Given the description of an element on the screen output the (x, y) to click on. 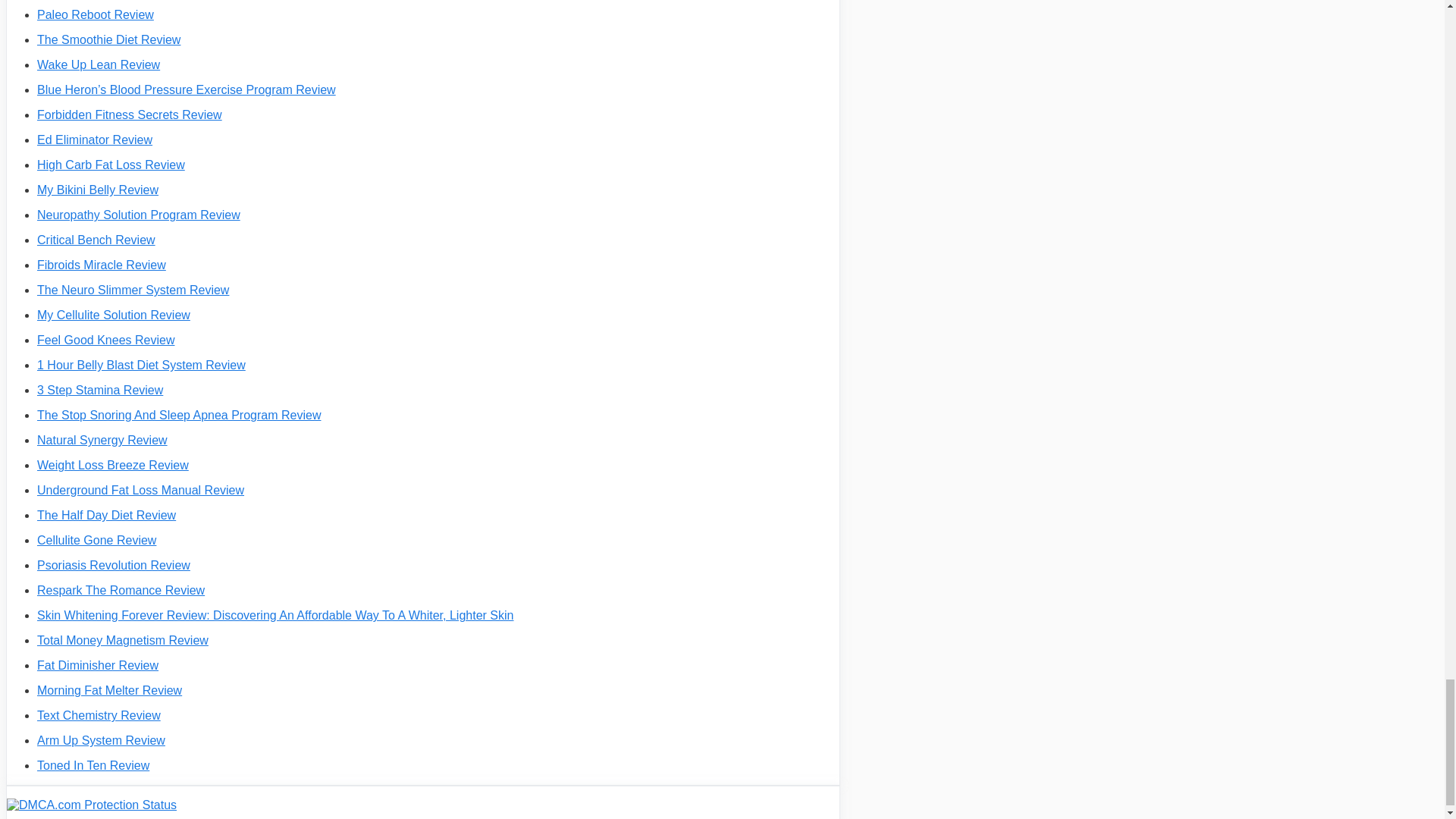
DMCA.com Protection Status (91, 804)
